Given the description of an element on the screen output the (x, y) to click on. 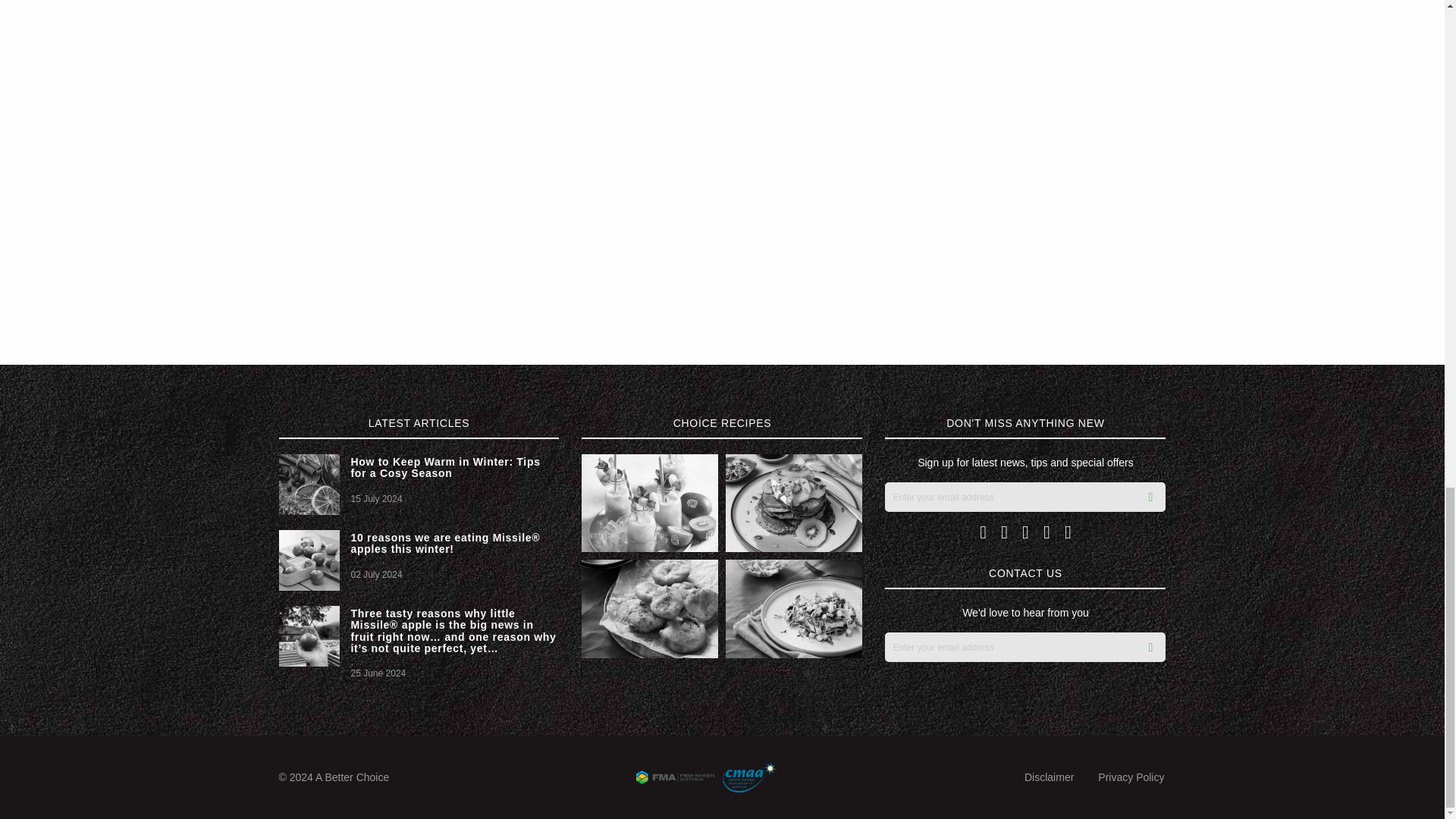
How to Keep Warm in Winter: Tips for a Cosy Season (445, 467)
